Given the description of an element on the screen output the (x, y) to click on. 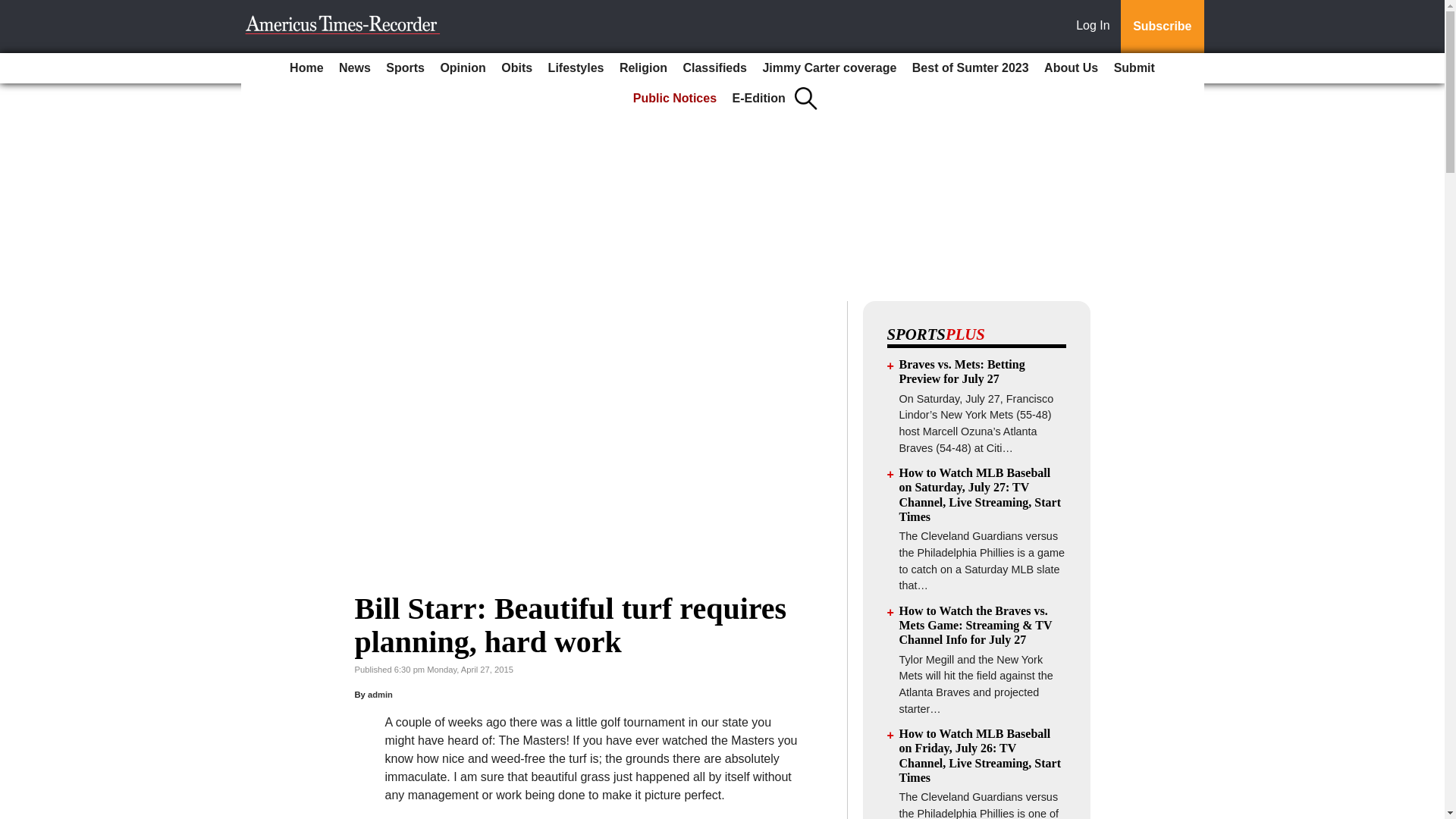
Public Notices (674, 98)
Log In (1095, 26)
Subscribe (1162, 26)
Classifieds (714, 68)
Sports (405, 68)
About Us (1070, 68)
Obits (516, 68)
News (355, 68)
Opinion (462, 68)
Go (13, 9)
admin (380, 694)
Religion (642, 68)
Home (306, 68)
